Given the description of an element on the screen output the (x, y) to click on. 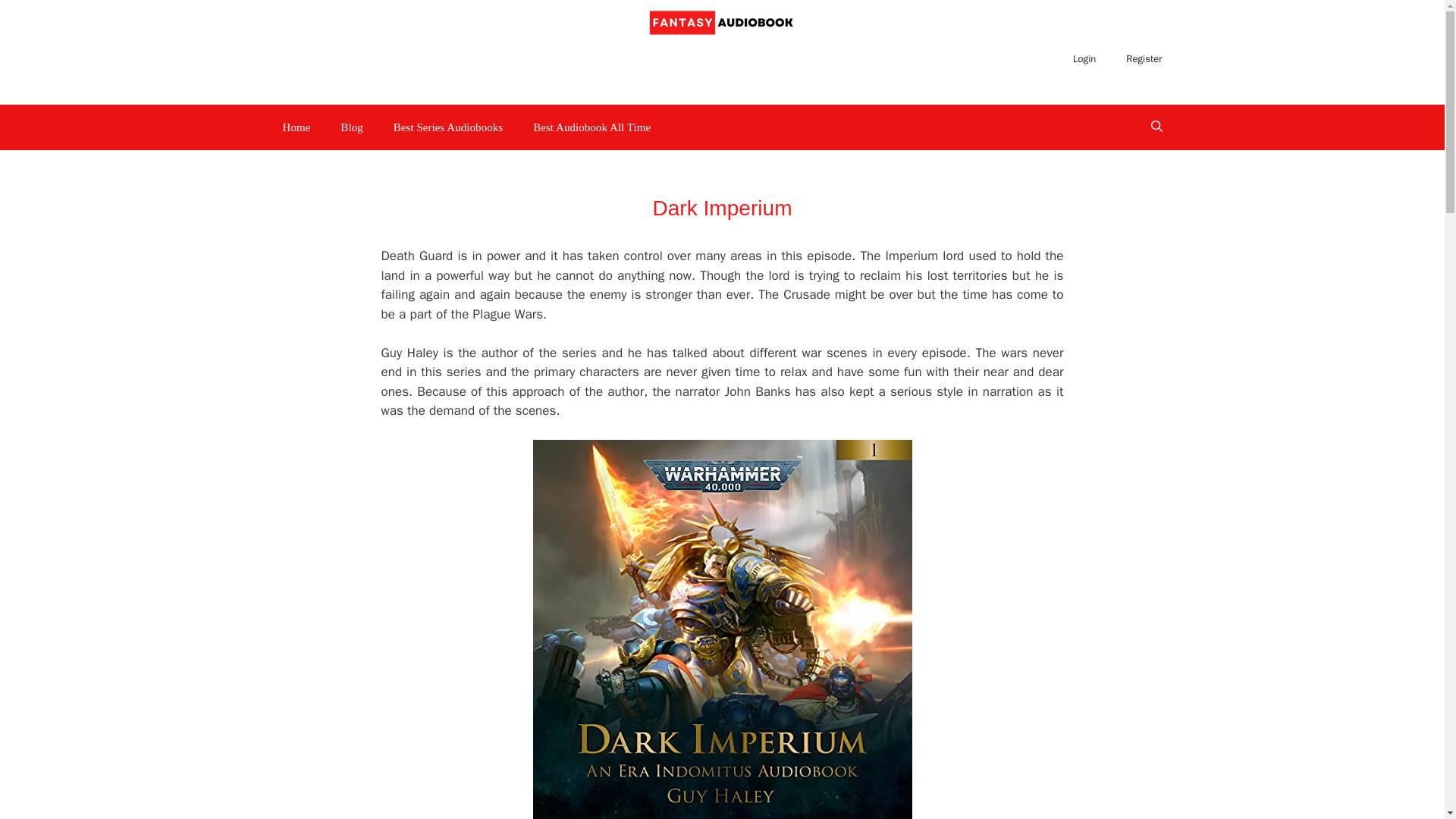
Blog (350, 126)
Best Audiobook All Time (591, 126)
Register (1143, 59)
Best Series Audiobooks (448, 126)
Login (1084, 59)
Home (295, 126)
